Given the description of an element on the screen output the (x, y) to click on. 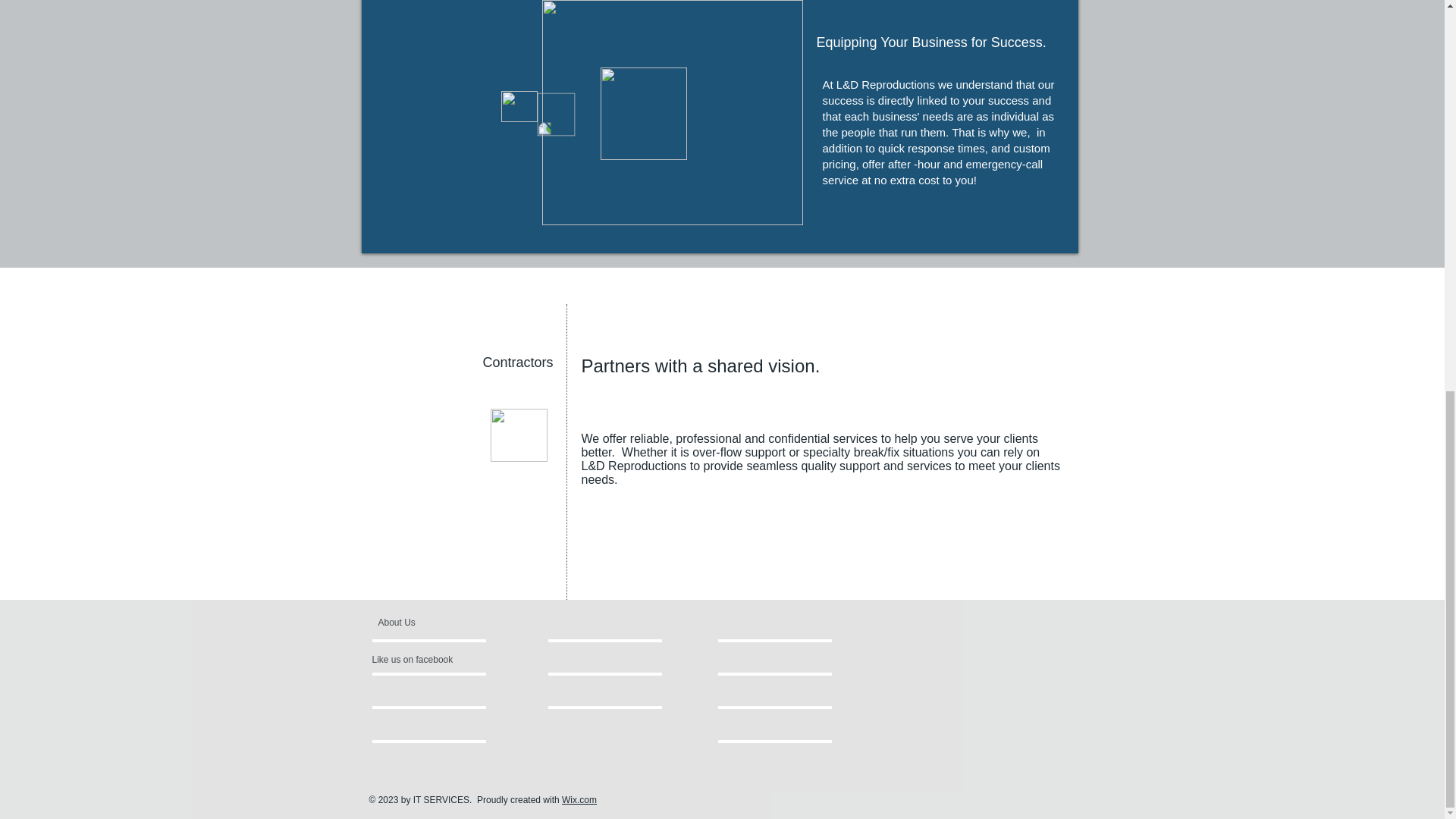
About Us (435, 621)
Like us on facebook (417, 659)
LogoColorNoText.jpeg (518, 434)
Wix.com (579, 799)
LogoBlackAndWhiteNoText.jpeg (643, 113)
